Given the description of an element on the screen output the (x, y) to click on. 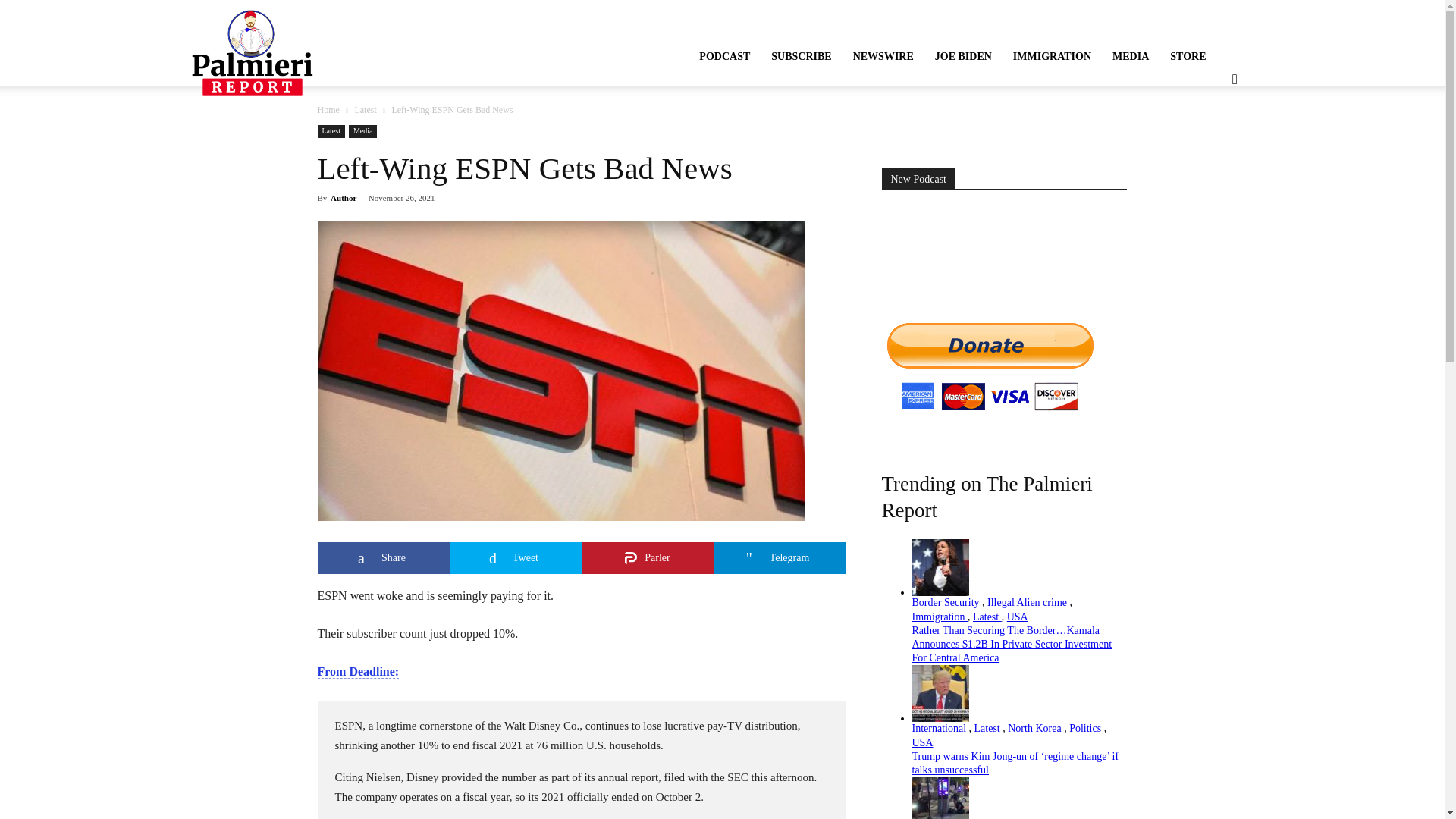
PODCAST (724, 56)
Tweet (514, 558)
Latest (364, 109)
Media (363, 131)
Share on Share (382, 558)
View all posts in Latest (364, 109)
Search (1210, 152)
Share on Tweet (514, 558)
MEDIA (1130, 56)
STORE (1186, 56)
